Given the description of an element on the screen output the (x, y) to click on. 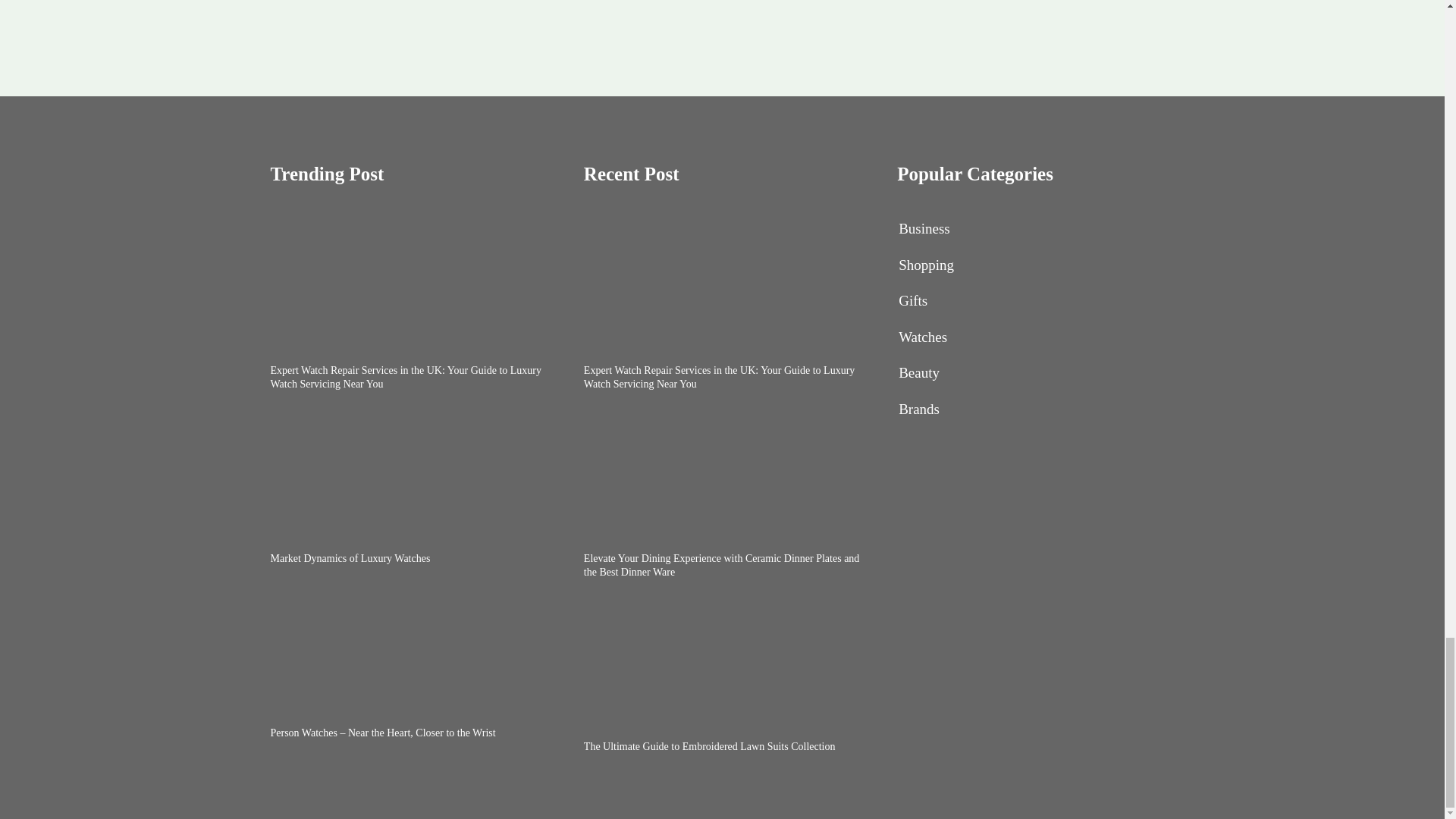
Market Dynamics of Luxury Watches (408, 472)
Market Dynamics of Luxury Watches (349, 558)
